Given the description of an element on the screen output the (x, y) to click on. 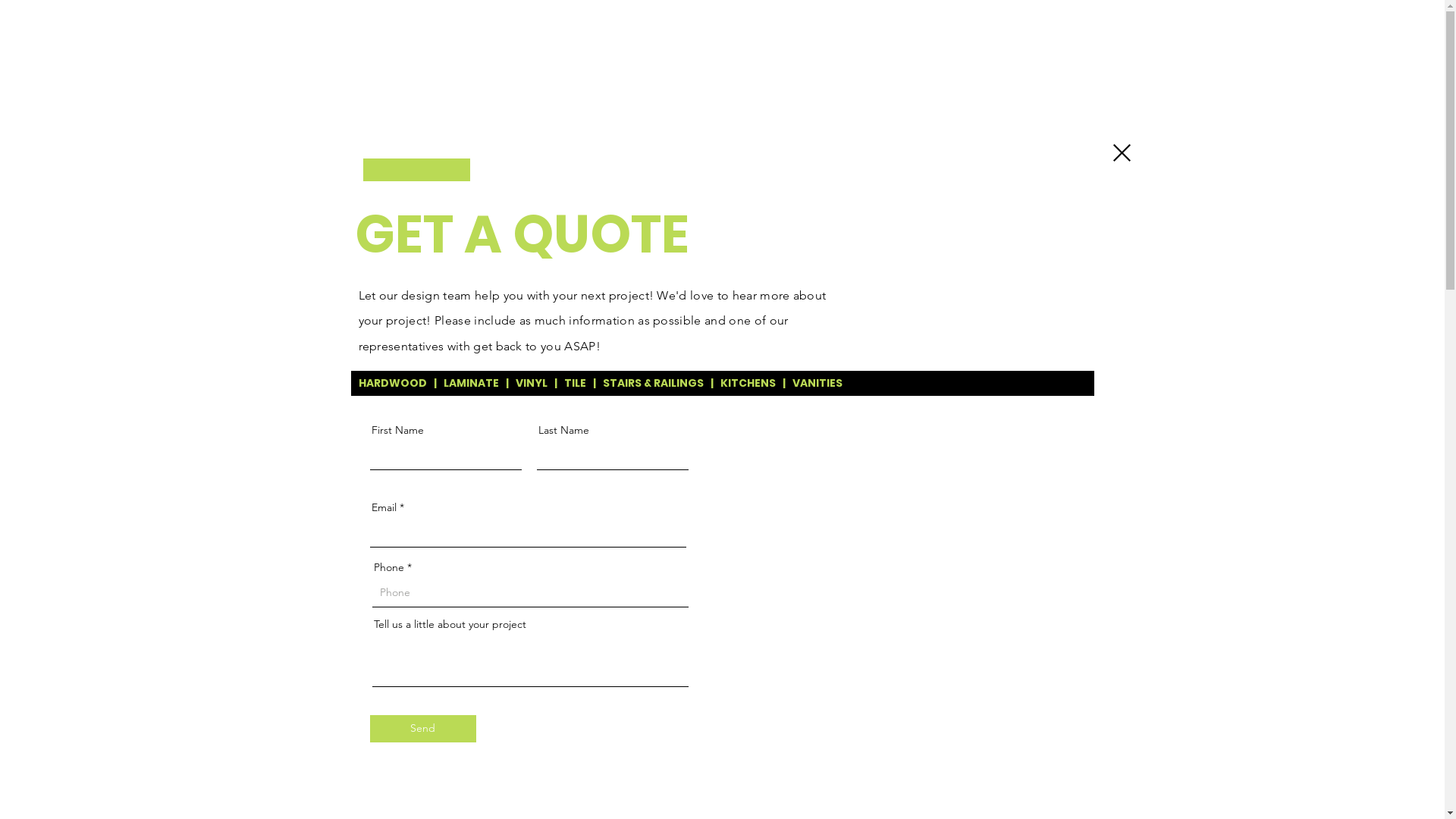
Back to site Element type: hover (1121, 152)
CONTACT Element type: text (867, 28)
Send Element type: text (423, 728)
QUOTE INQUIRY Element type: text (1253, 29)
HOME Element type: text (759, 28)
CALL US Element type: text (1369, 29)
ABOUT Element type: text (978, 28)
